Given the description of an element on the screen output the (x, y) to click on. 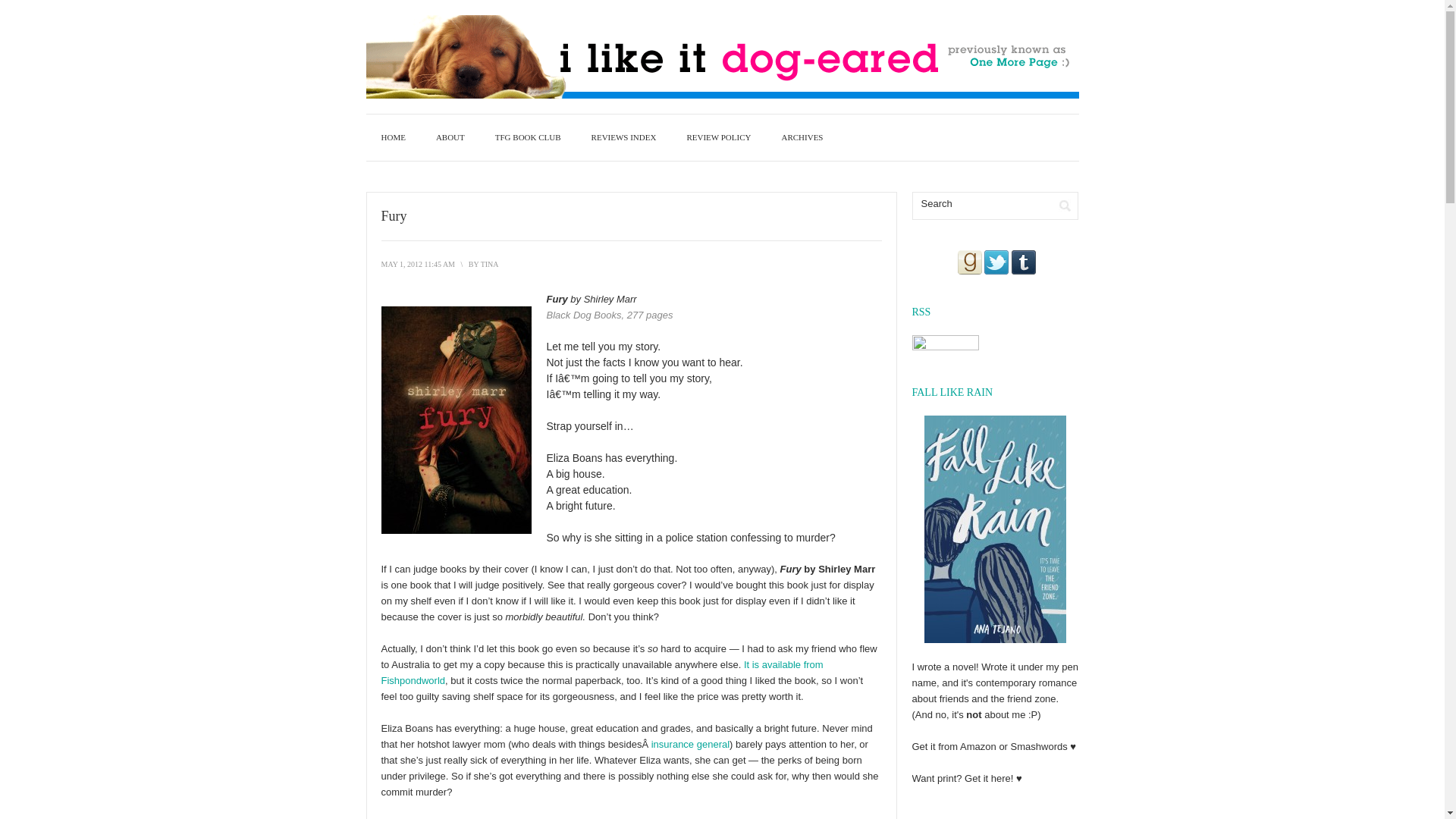
Search (1064, 205)
ABOUT (450, 137)
MAY 1, 2012 11:45 AM (417, 264)
Fury by Shirley Marr - Fishpondworld (601, 672)
Search (1064, 205)
HOME (392, 137)
Smashwords (1038, 746)
REVIEWS INDEX (623, 137)
Fury (417, 264)
TFG BOOK CLUB (528, 137)
insurance general (689, 744)
REVIEW POLICY (718, 137)
Search (980, 203)
Amazon (977, 746)
ARCHIVES (801, 137)
